Given the description of an element on the screen output the (x, y) to click on. 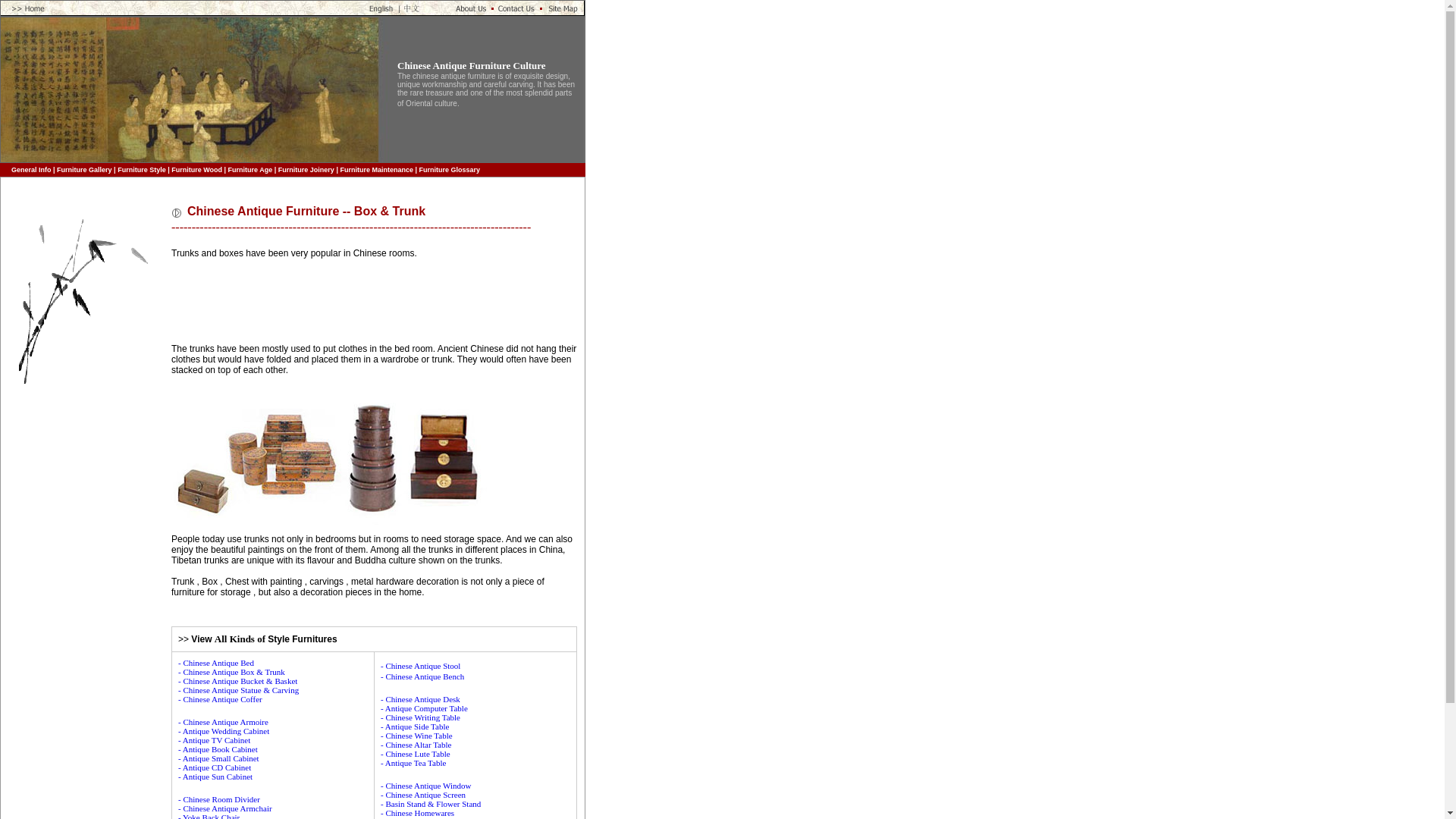
- Chinese Room Divider (218, 798)
- Antique Computer Table (423, 707)
Furniture Gallery (84, 169)
Furniture Wood (196, 169)
- Antique Small Cabinet (218, 757)
Furniture Style (141, 169)
Advertisement (348, 300)
- Chinese Antique Stool (420, 665)
- Chinese Antique Armchair (224, 808)
- Chinese Wine Table (416, 735)
